Given the description of an element on the screen output the (x, y) to click on. 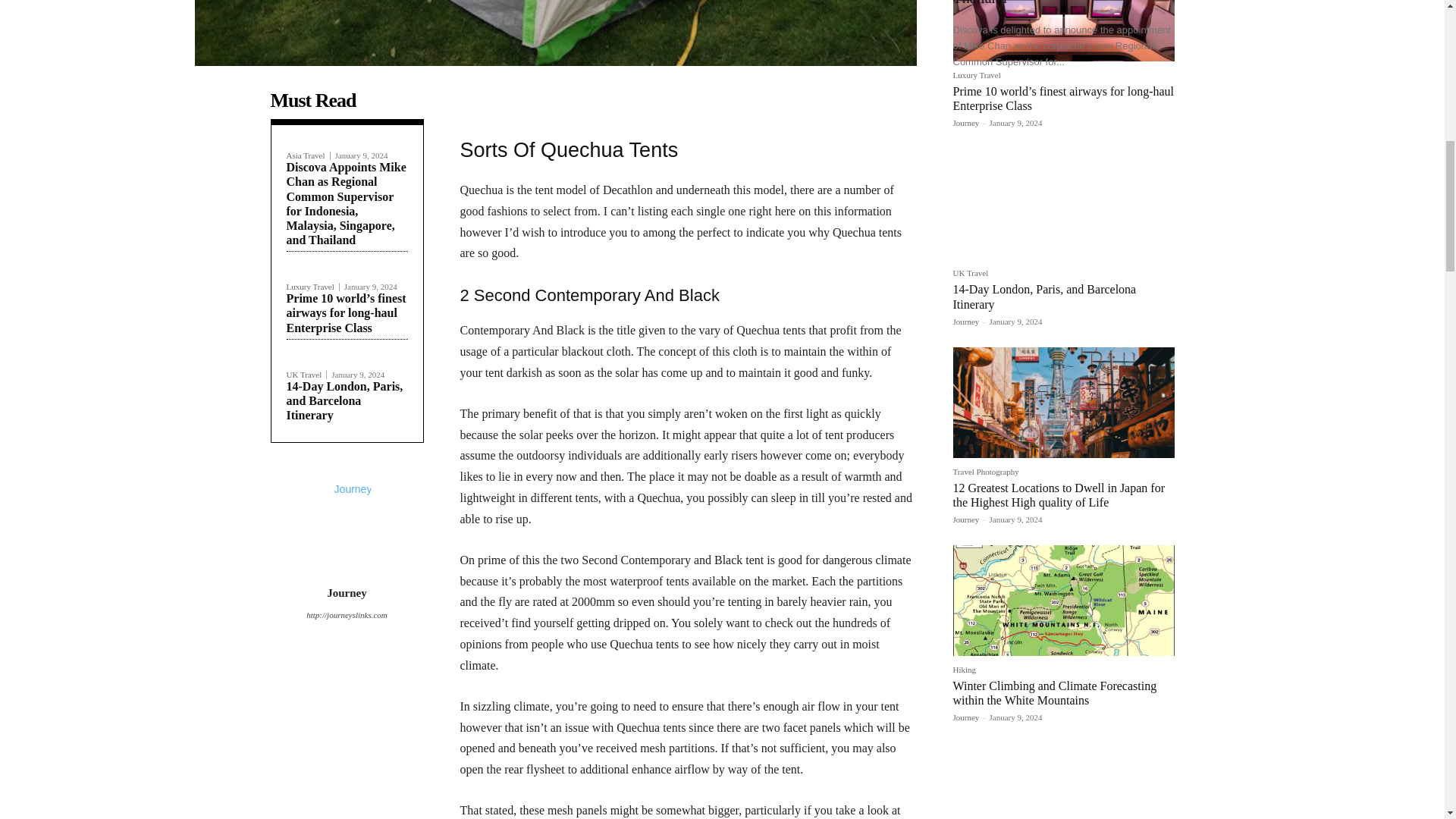
14-Day London, Paris, and Barcelona Itinerary (344, 400)
